Given the description of an element on the screen output the (x, y) to click on. 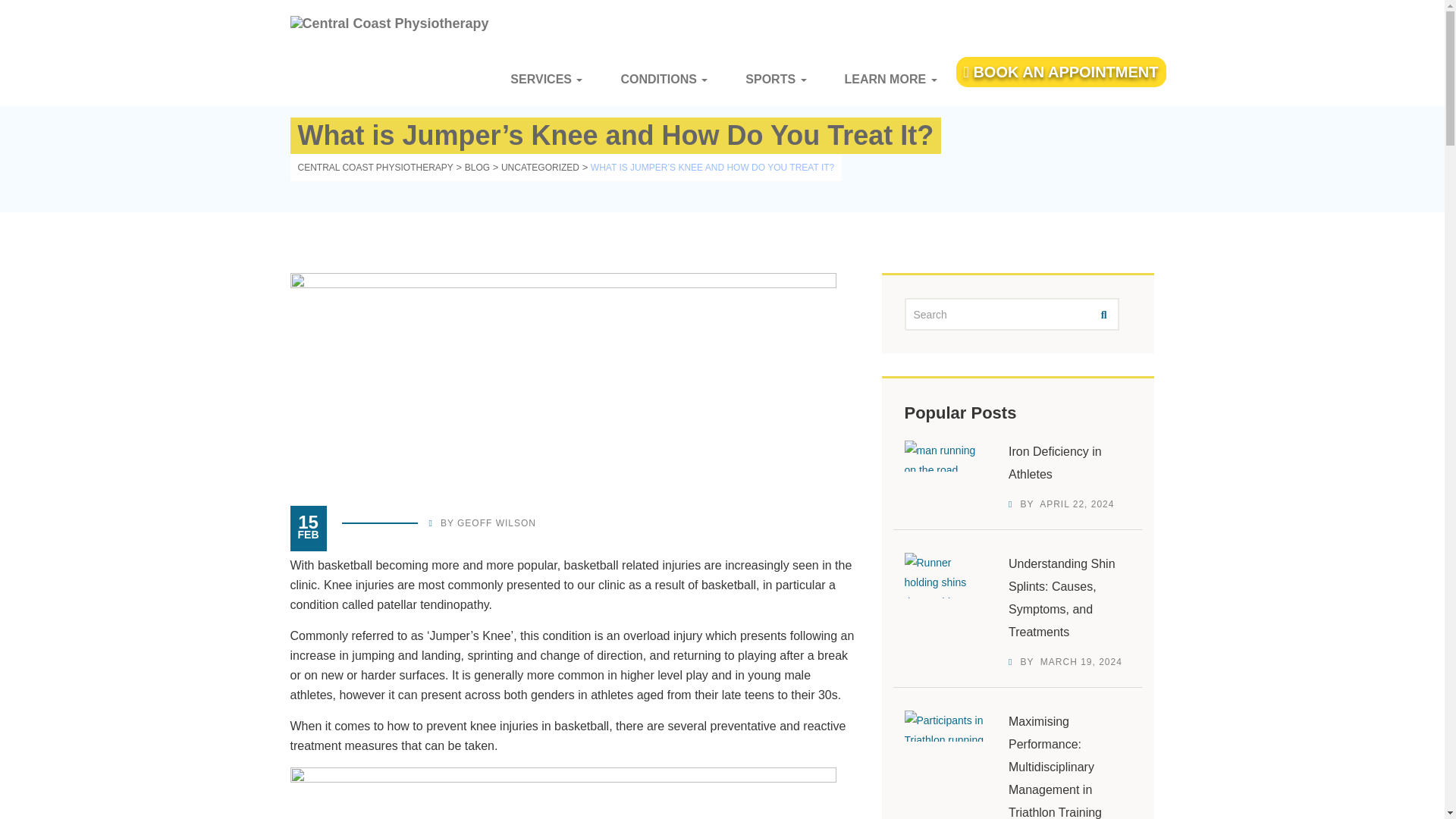
CONDITIONS (663, 79)
Go to Central Coast Physiotherapy. (374, 167)
Go to Blog. (476, 167)
SPORTS (774, 79)
SERVICES (546, 79)
Go to the Uncategorized Category archives. (539, 167)
